Given the description of an element on the screen output the (x, y) to click on. 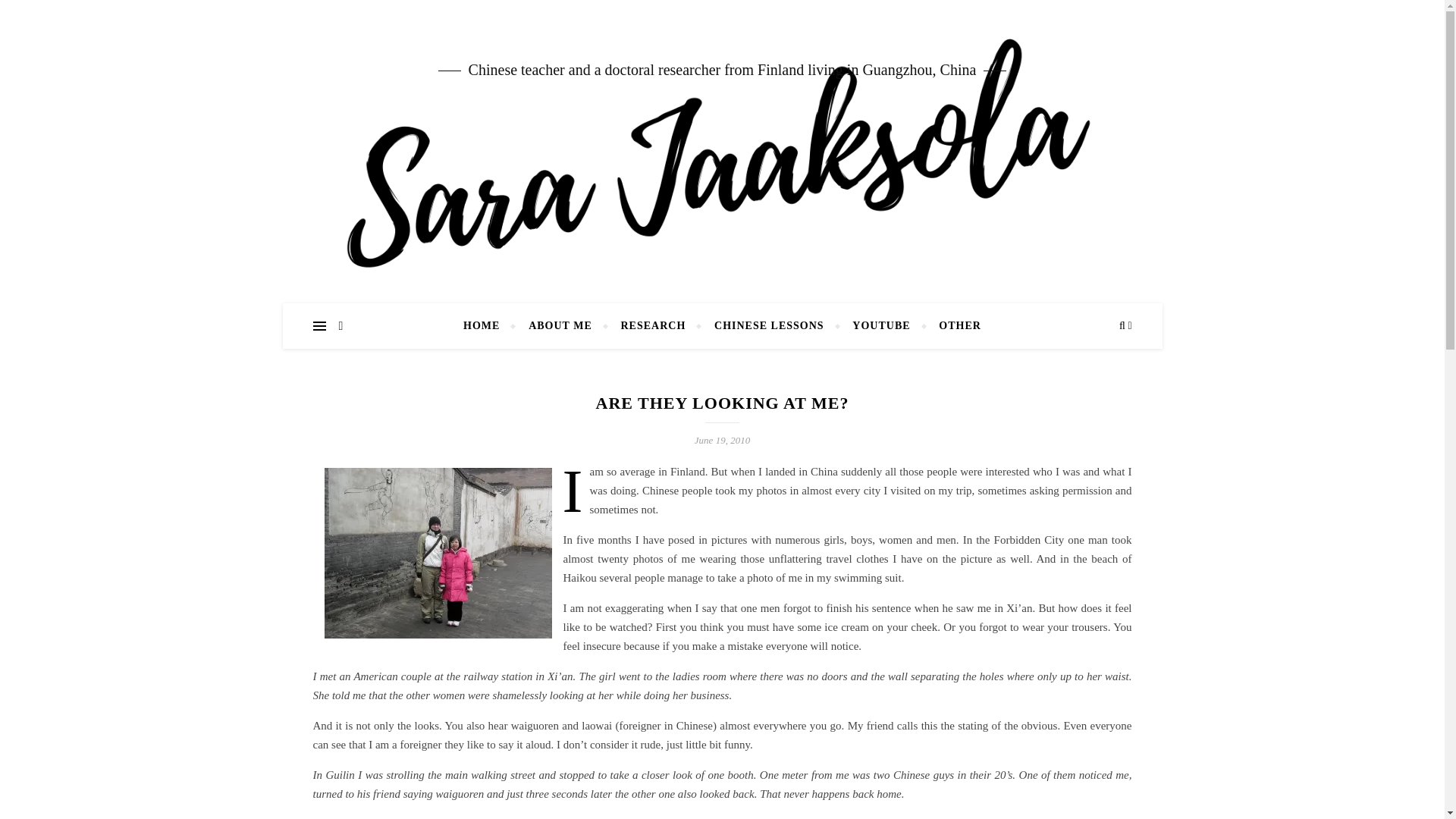
YOUTUBE (881, 325)
OTHER (953, 325)
CHINESE LESSONS (769, 325)
ABOUT ME (560, 325)
HOME (487, 325)
RESEARCH (653, 325)
